Given the description of an element on the screen output the (x, y) to click on. 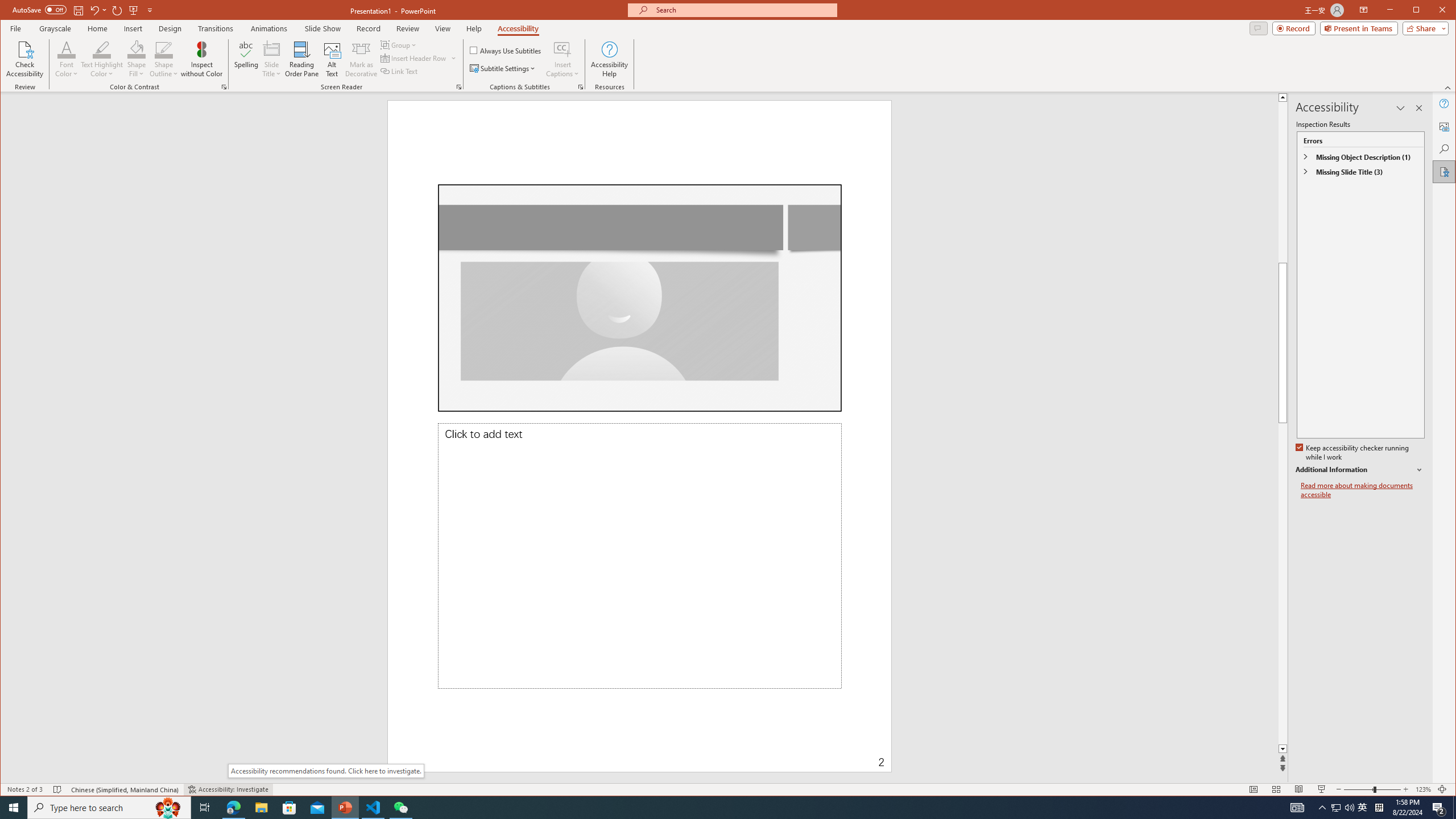
Mark as Decorative (360, 59)
Reading Order Pane (301, 59)
